Given the description of an element on the screen output the (x, y) to click on. 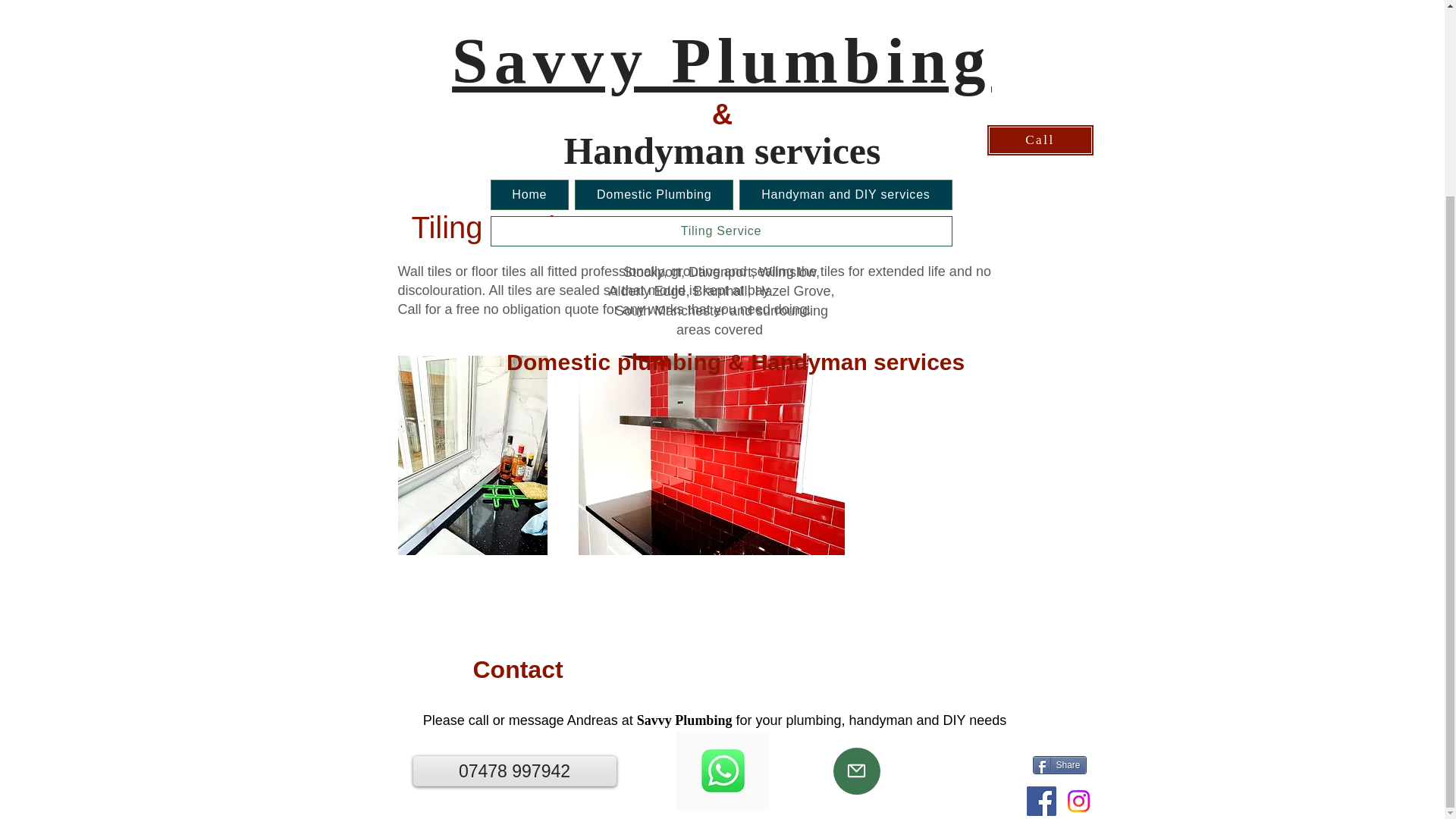
Share (1059, 764)
Share (1059, 764)
07478 997942 (513, 770)
